Given the description of an element on the screen output the (x, y) to click on. 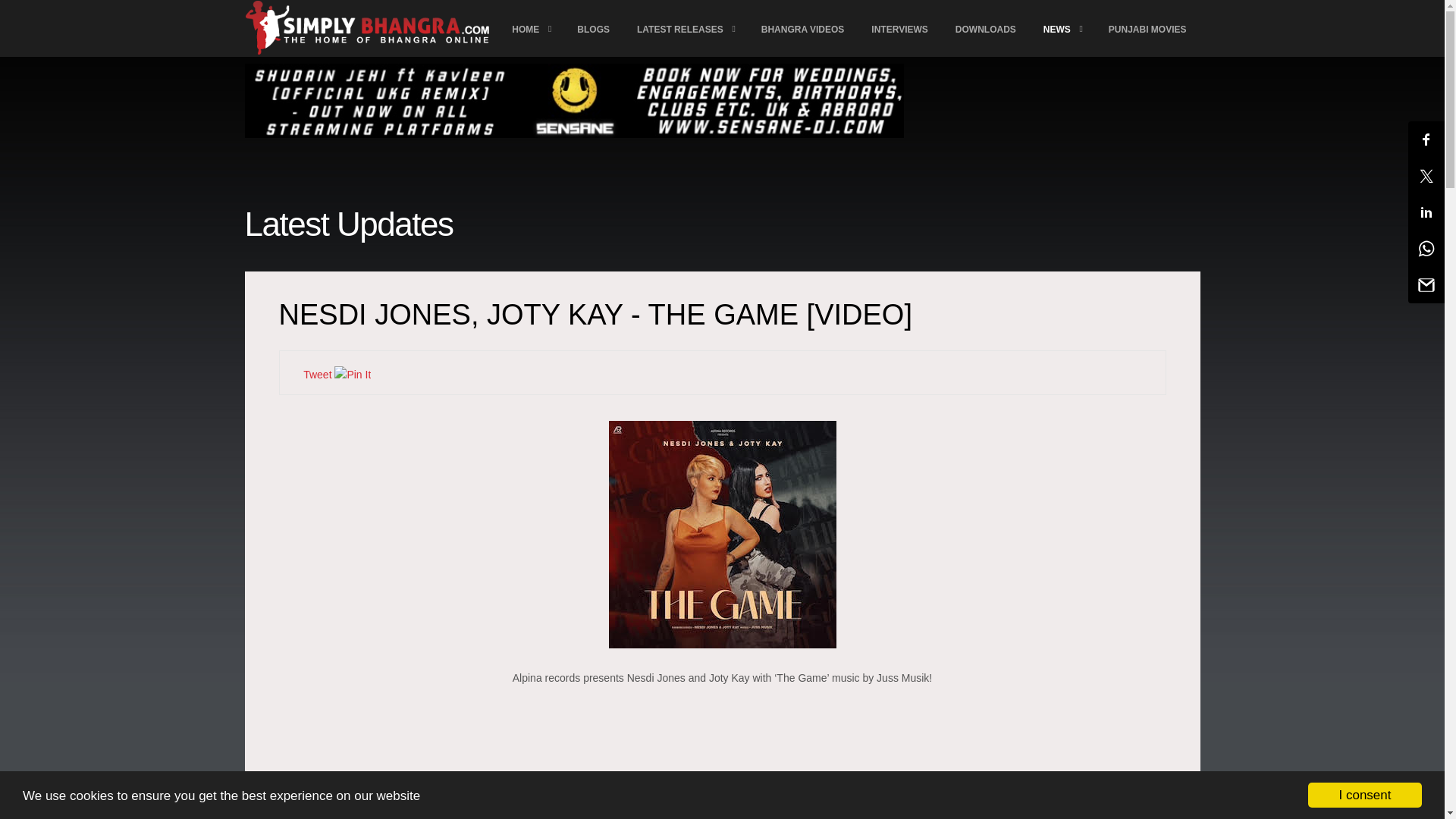
Tweet (316, 374)
BLOGS (593, 29)
Simply Bhangra (1115, 803)
BHANGRA VIDEOS (803, 29)
HOME (530, 29)
NEWS (1061, 29)
PUNJABI MOVIES (1146, 29)
DOWNLOADS (985, 29)
Pin It (352, 374)
YouTube video player (722, 763)
LATEST RELEASES (685, 29)
INTERVIEWS (898, 29)
